Given the description of an element on the screen output the (x, y) to click on. 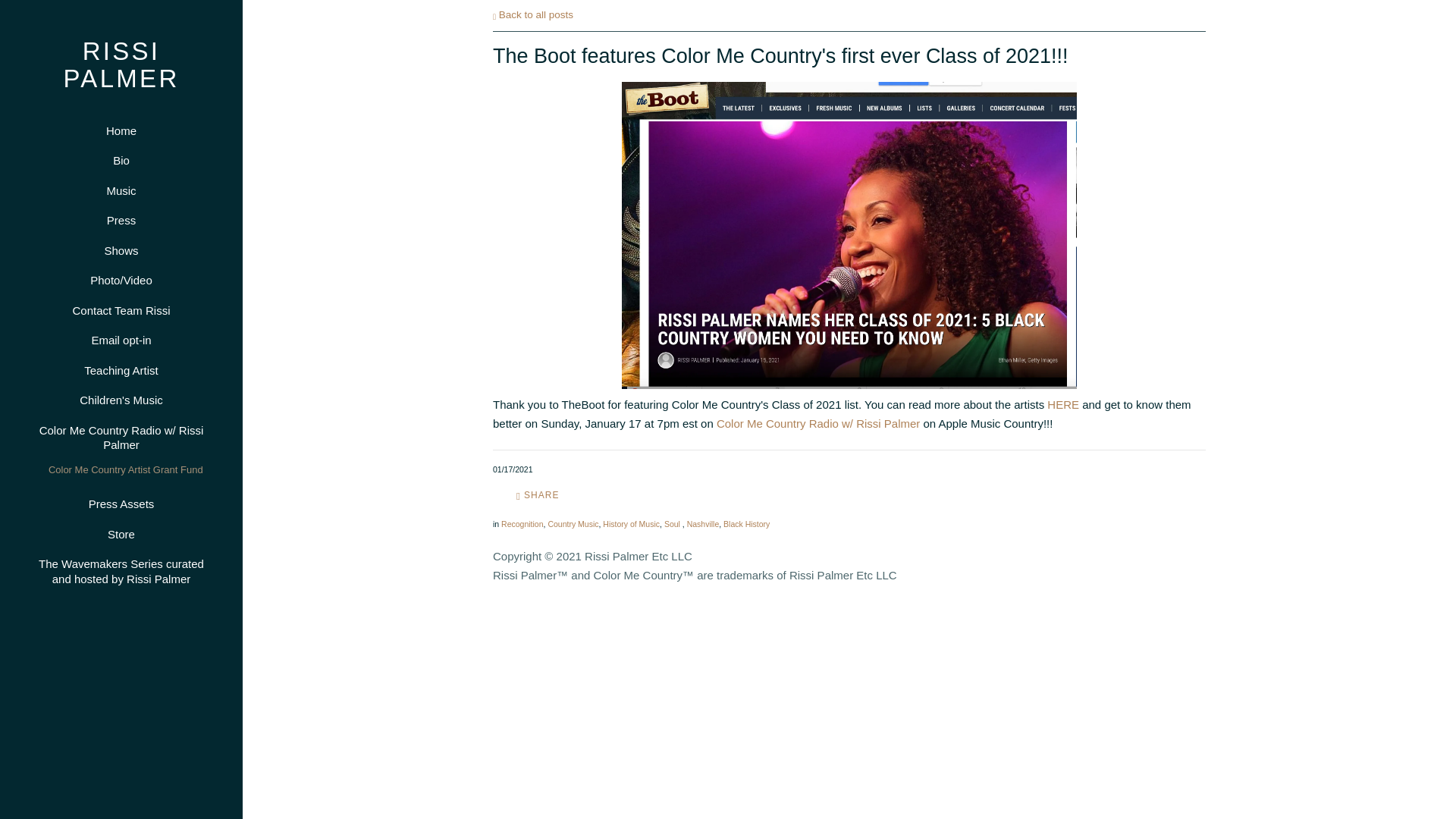
Contact Team Rissi (121, 311)
Country Music (572, 523)
RISSI PALMER (121, 79)
Recognition (521, 523)
Press Assets (121, 504)
HERE (1062, 403)
January 17, 2021 15:49 (512, 468)
Music (120, 190)
SHARE (537, 495)
Children's Music (121, 400)
Color Me Country Artist Grant Fund (124, 468)
Back to all posts (533, 14)
Home (121, 130)
Email opt-in (120, 340)
Store (121, 534)
